Given the description of an element on the screen output the (x, y) to click on. 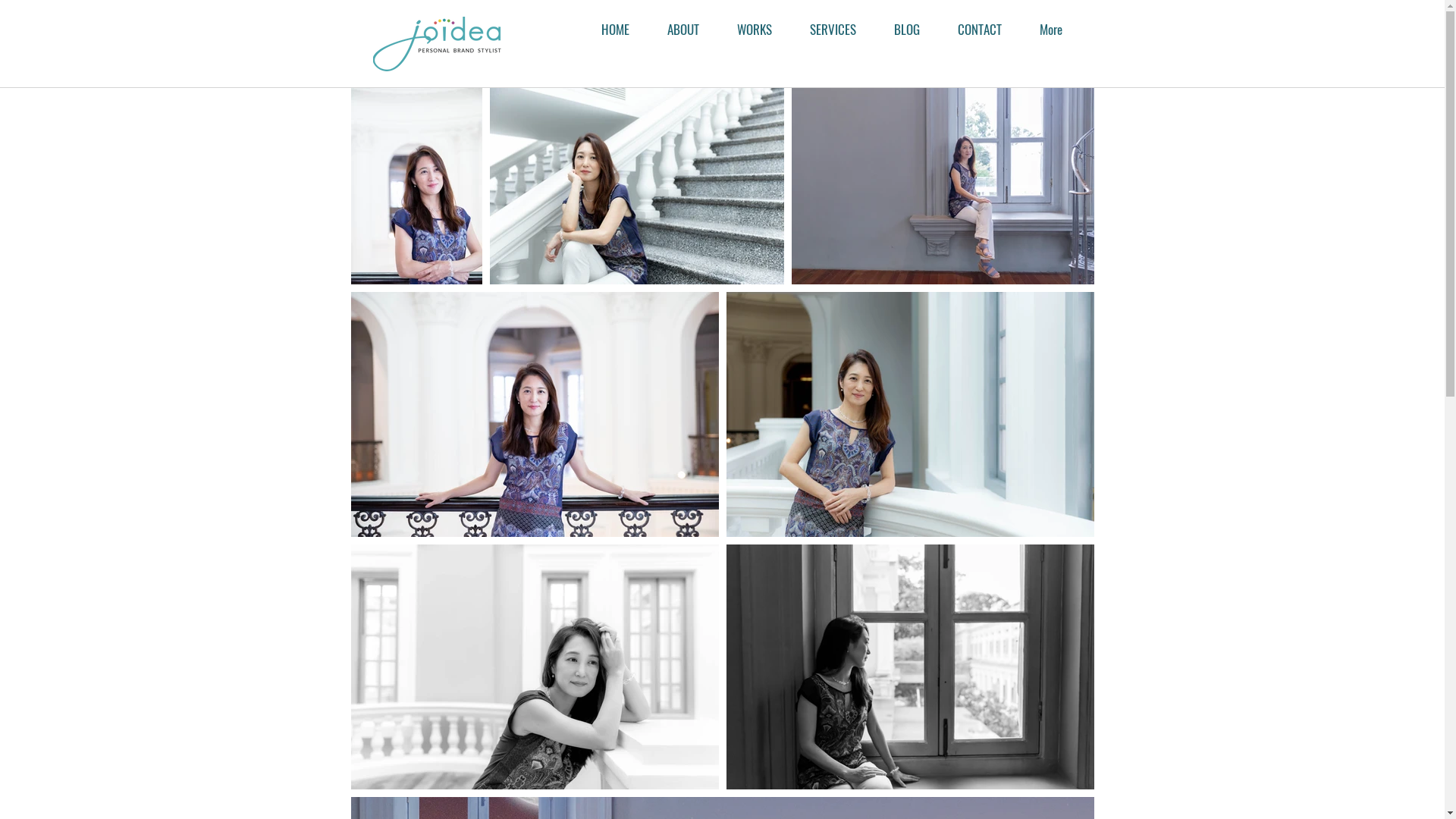
HOME Element type: text (615, 31)
CONTACT Element type: text (979, 31)
WORKS Element type: text (753, 31)
ABOUT Element type: text (682, 31)
BLOG Element type: text (906, 31)
SERVICES Element type: text (832, 31)
